Given the description of an element on the screen output the (x, y) to click on. 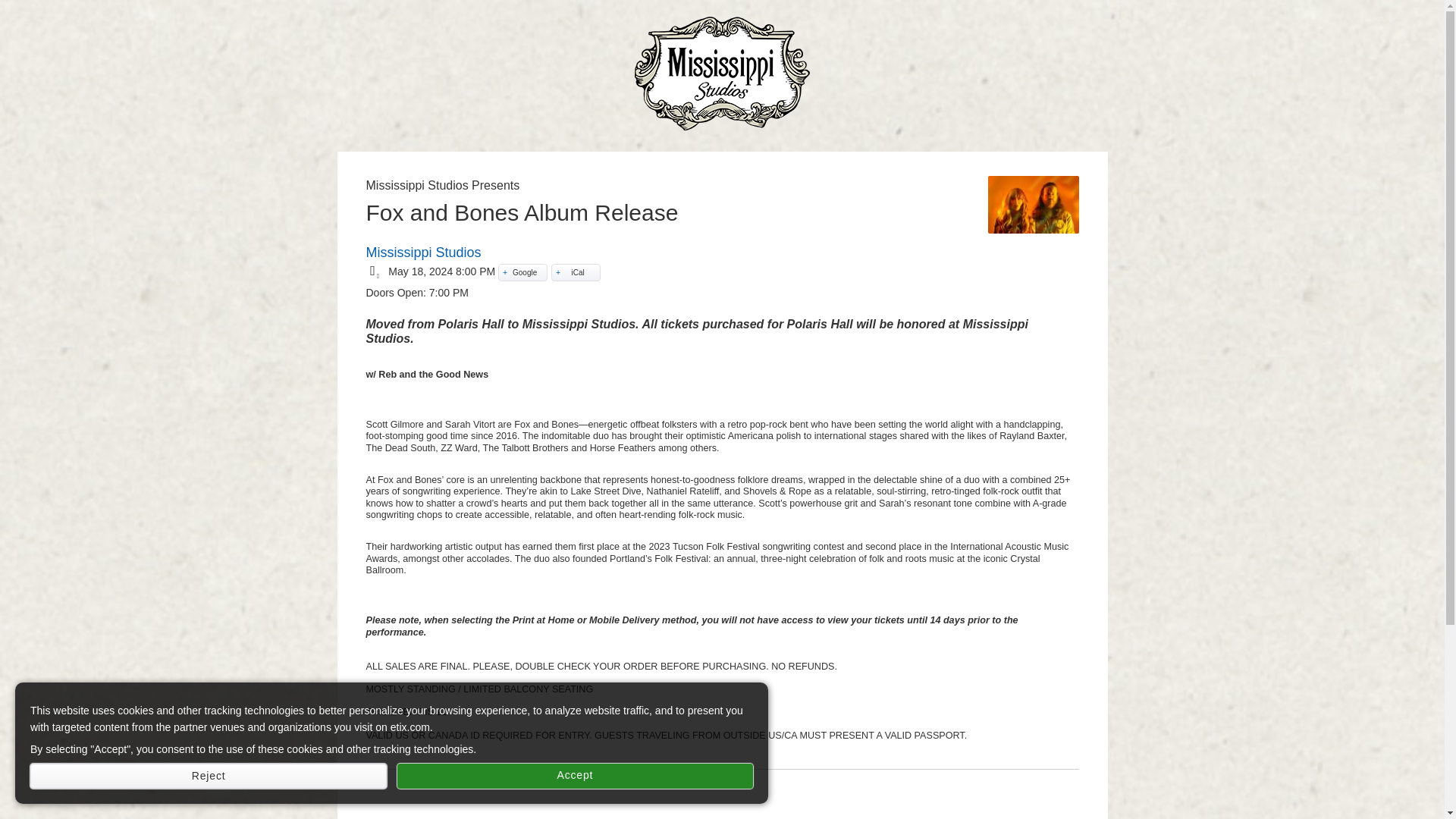
Accept (574, 775)
Mississippi Studios (422, 252)
Reject (208, 775)
